Given the description of an element on the screen output the (x, y) to click on. 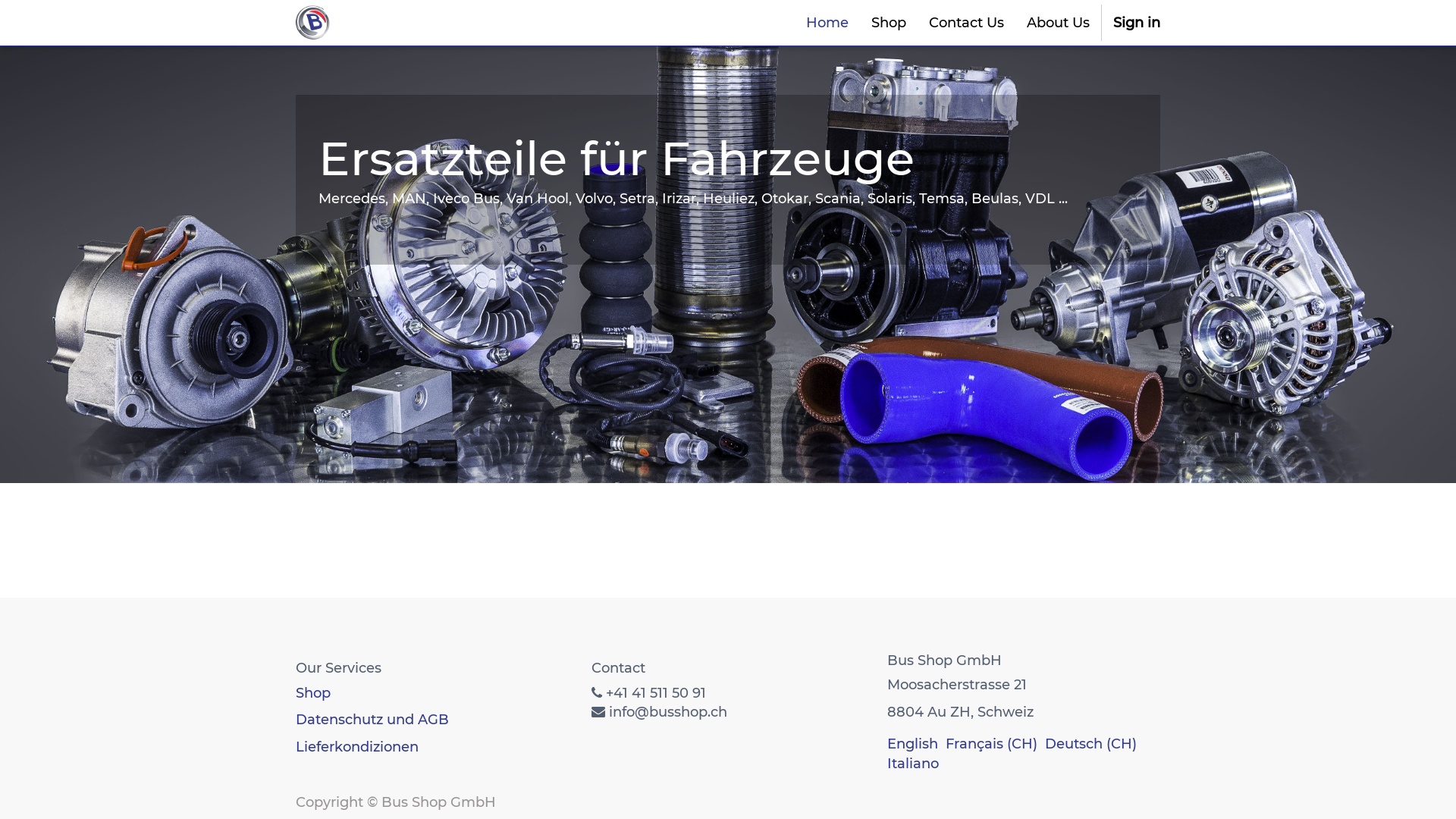
Sign in Element type: text (1136, 22)
Bus Shop GmbH Element type: hover (313, 22)
Deutsch (CH) Element type: text (1090, 743)
Datenschutz und AGB Element type: text (371, 719)
Shop Element type: text (312, 692)
Home Element type: text (826, 22)
Shop Element type: text (888, 22)
About Us Element type: text (1058, 22)
Lieferkondizionen Element type: text (356, 746)
Contact Us Element type: text (966, 22)
English Element type: text (912, 743)
Italiano Element type: text (912, 763)
